Given the description of an element on the screen output the (x, y) to click on. 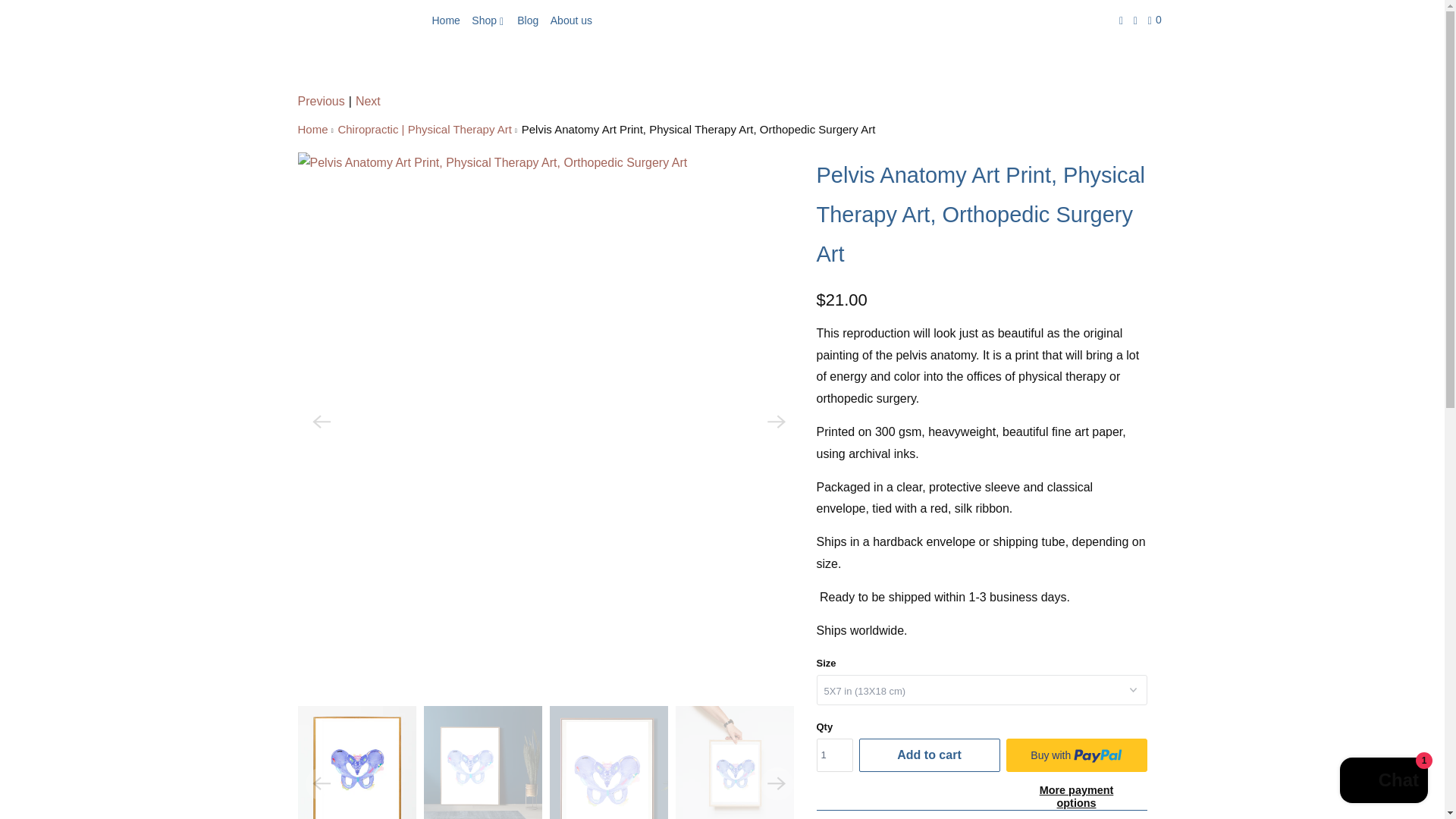
medpapers (342, 20)
1 (833, 755)
Previous (320, 101)
Home (446, 20)
medpapers (342, 20)
Next (367, 101)
medpapers (312, 128)
